Given the description of an element on the screen output the (x, y) to click on. 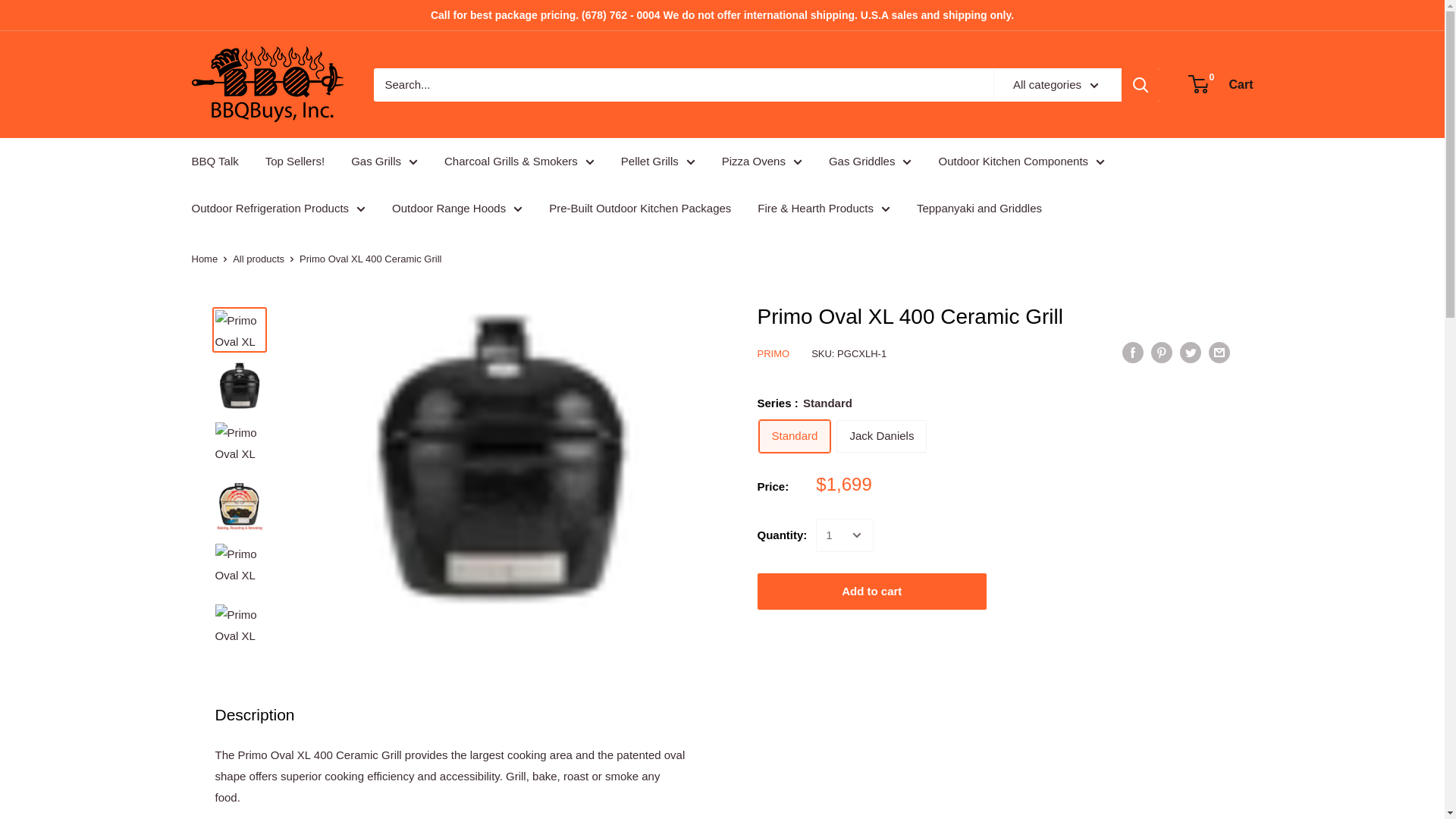
Jack Daniels (880, 436)
Standard (793, 436)
